Given the description of an element on the screen output the (x, y) to click on. 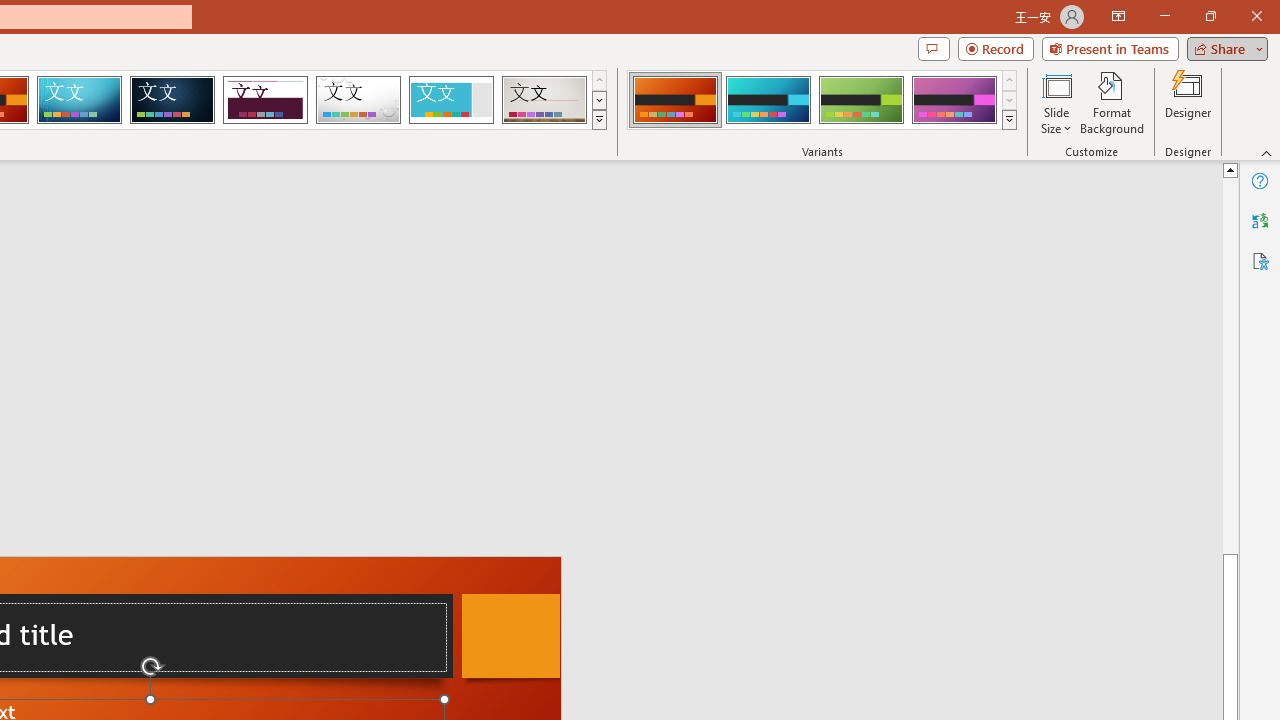
Berlin Variant 2 (768, 100)
